Given the description of an element on the screen output the (x, y) to click on. 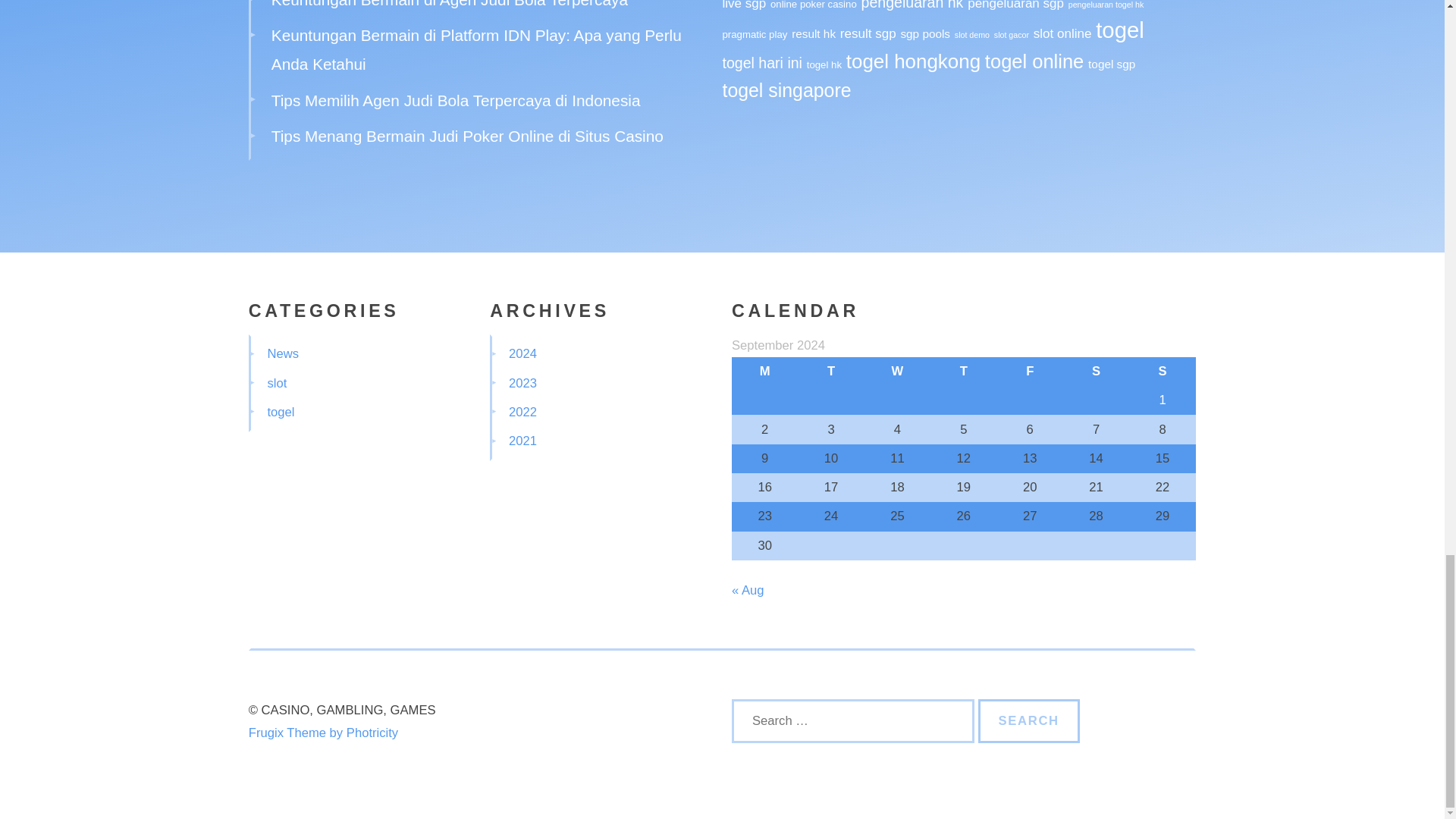
Monday (764, 371)
Sunday (1162, 371)
Wednesday (897, 371)
Search (1029, 720)
live sgp (743, 5)
Tips Memilih Agen Judi Bola Terpercaya di Indonesia (455, 99)
online poker casino (813, 4)
Friday (1029, 371)
Tuesday (830, 371)
Search (1029, 720)
